Given the description of an element on the screen output the (x, y) to click on. 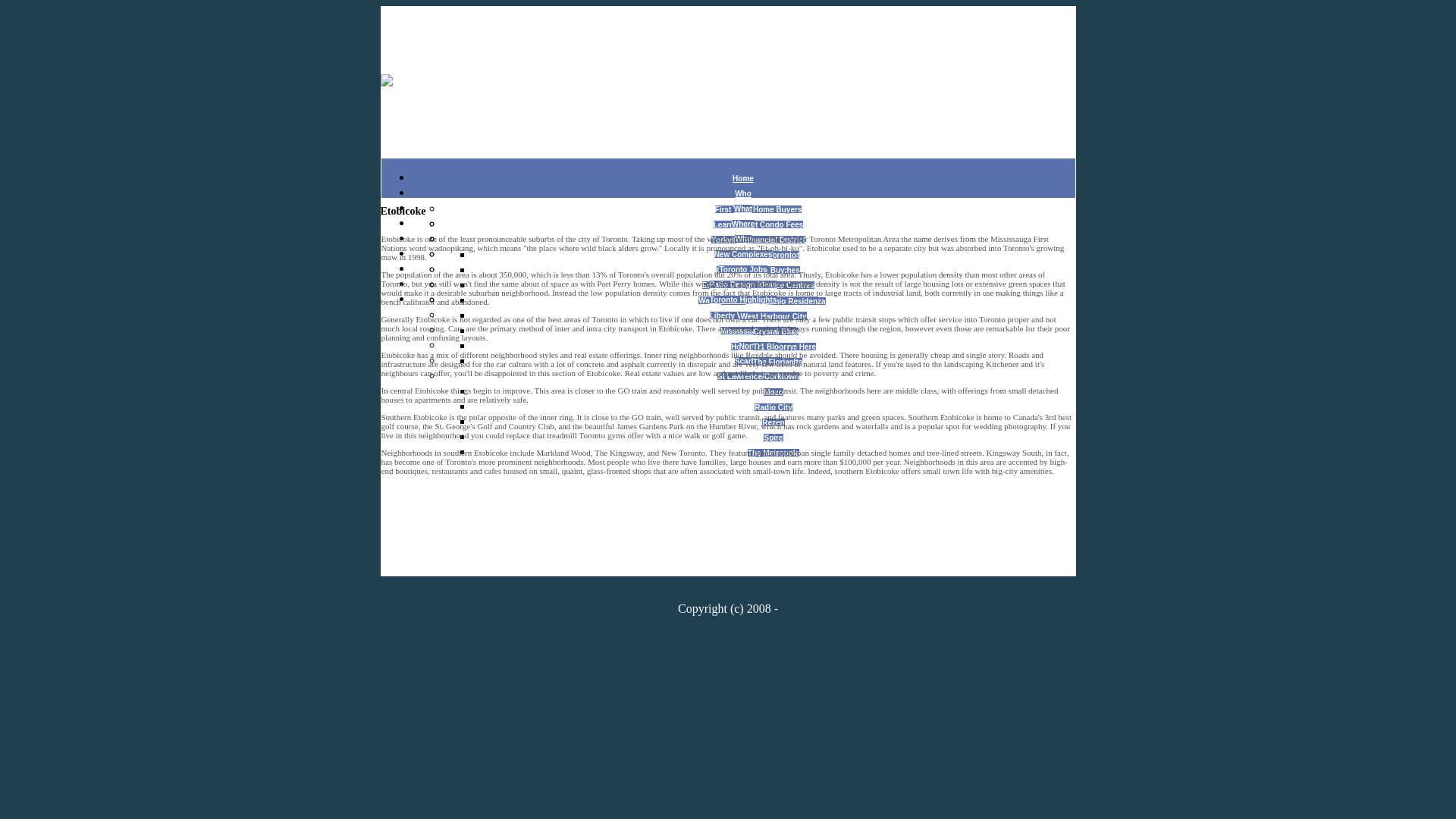
How Much To Live Here (772, 347)
Spire (772, 438)
Why Choose Toronto (758, 254)
1 Bedford (773, 270)
First Time Home Buyers (758, 209)
Rezen (772, 422)
Camden Lofts (773, 331)
What (742, 208)
The Metropole (773, 452)
New Complexes (743, 254)
Where (743, 224)
The Sylvia Lofts (773, 361)
Young Professionals (758, 224)
North York (758, 346)
455 Adelaide St West (772, 301)
